Given the description of an element on the screen output the (x, y) to click on. 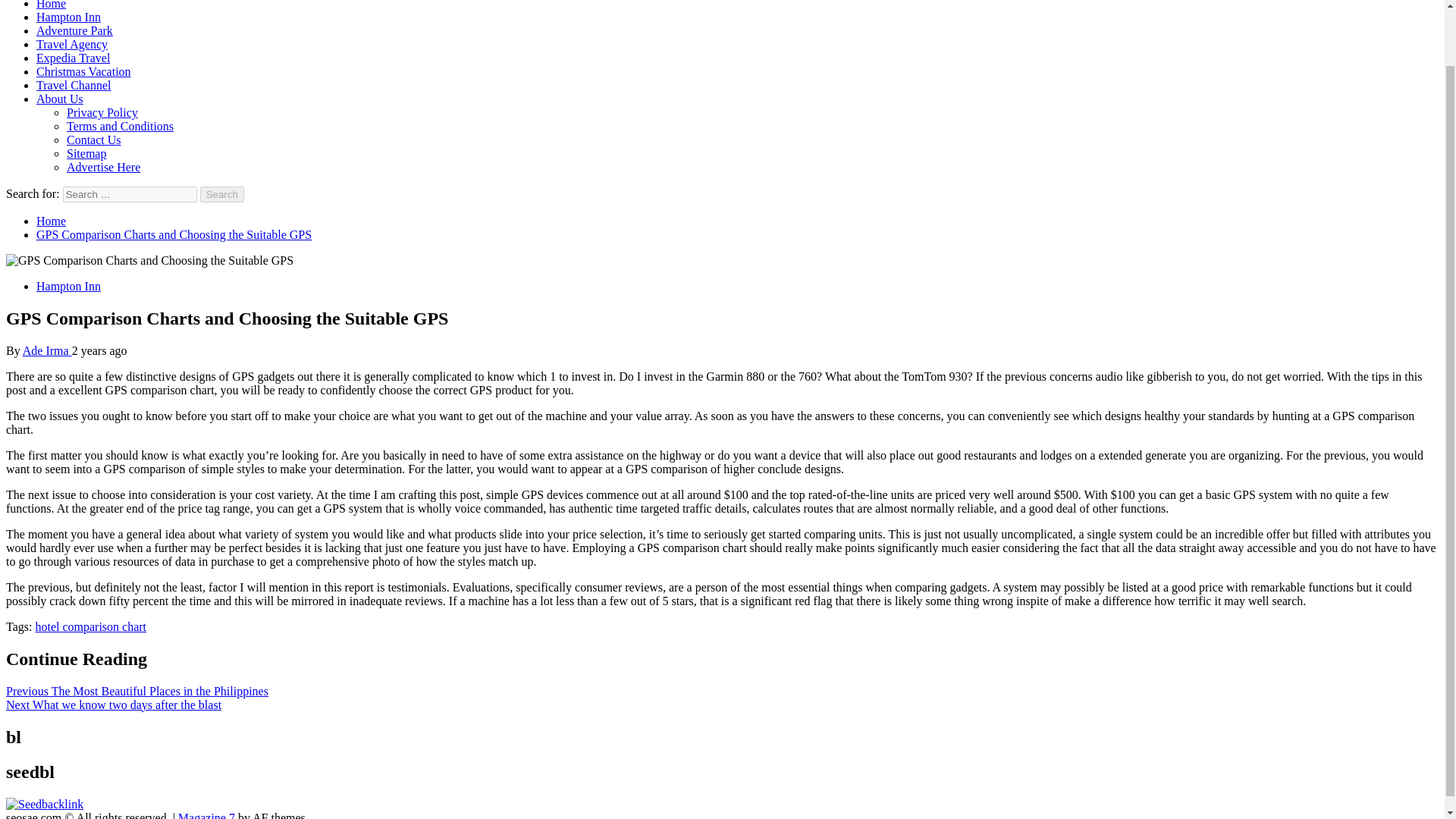
Seedbacklink (43, 804)
Sitemap (86, 153)
hotel comparison chart (90, 626)
Home (50, 4)
Privacy Policy (102, 112)
Previous The Most Beautiful Places in the Philippines (136, 690)
Hampton Inn (68, 16)
Adventure Park (74, 30)
Travel Channel (74, 84)
Expedia Travel (73, 57)
GPS Comparison Charts and Choosing the Suitable GPS (173, 234)
About Us (59, 98)
Home (50, 220)
Travel Agency (71, 43)
Search (222, 194)
